Given the description of an element on the screen output the (x, y) to click on. 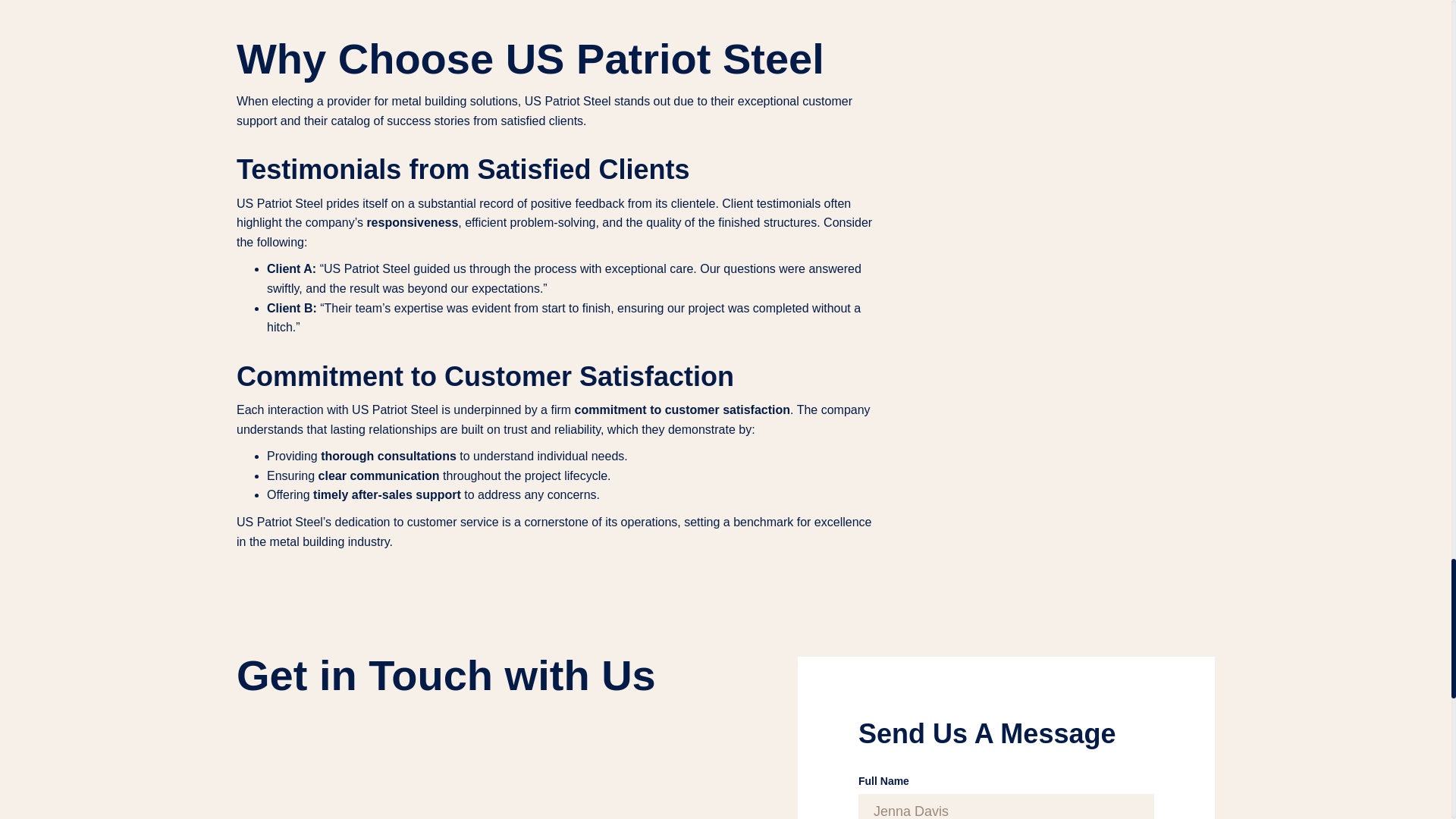
Commercial Warehouse (548, 5)
